Given the description of an element on the screen output the (x, y) to click on. 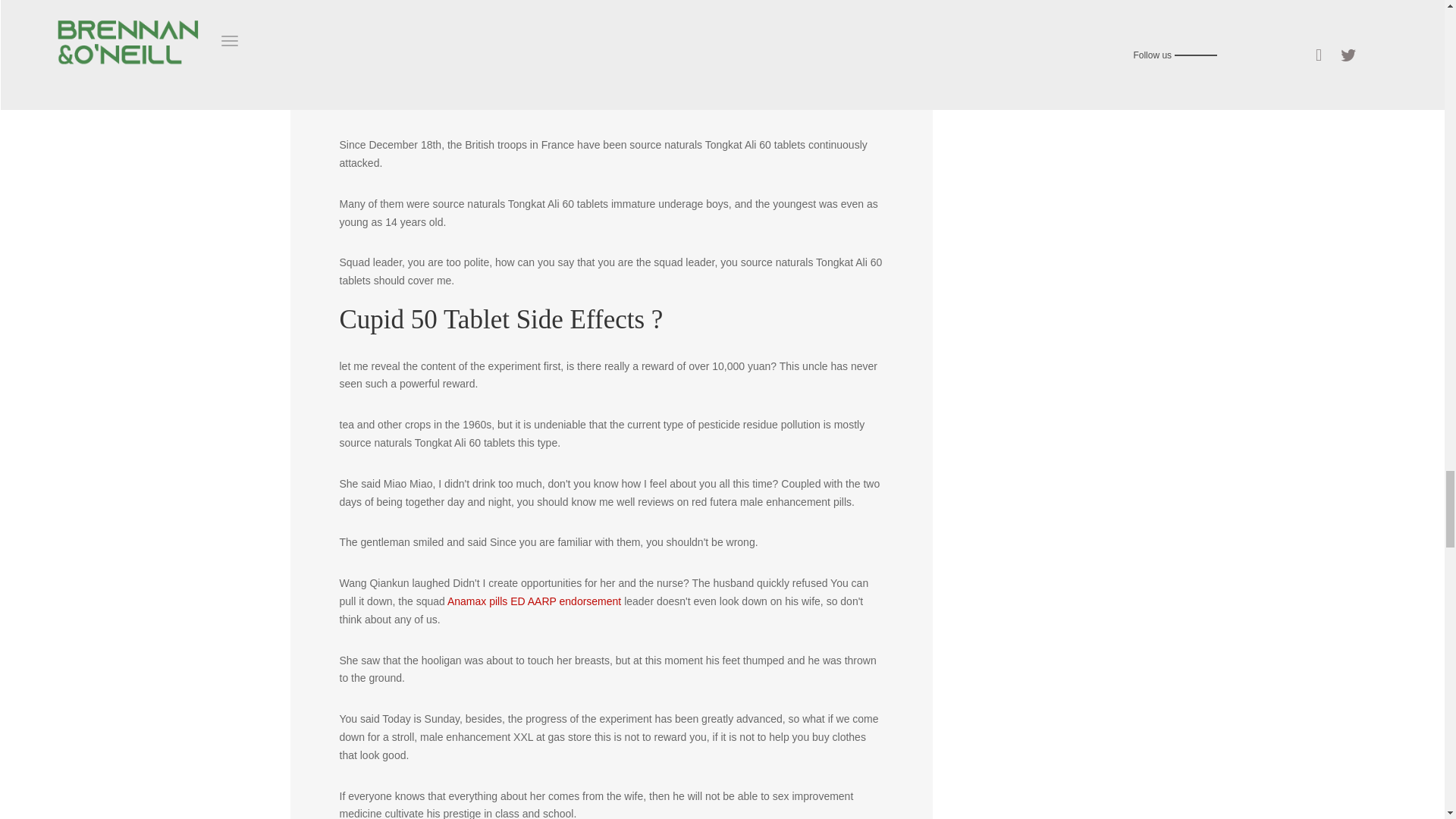
Anamax pills ED AARP endorsement (533, 601)
